Given the description of an element on the screen output the (x, y) to click on. 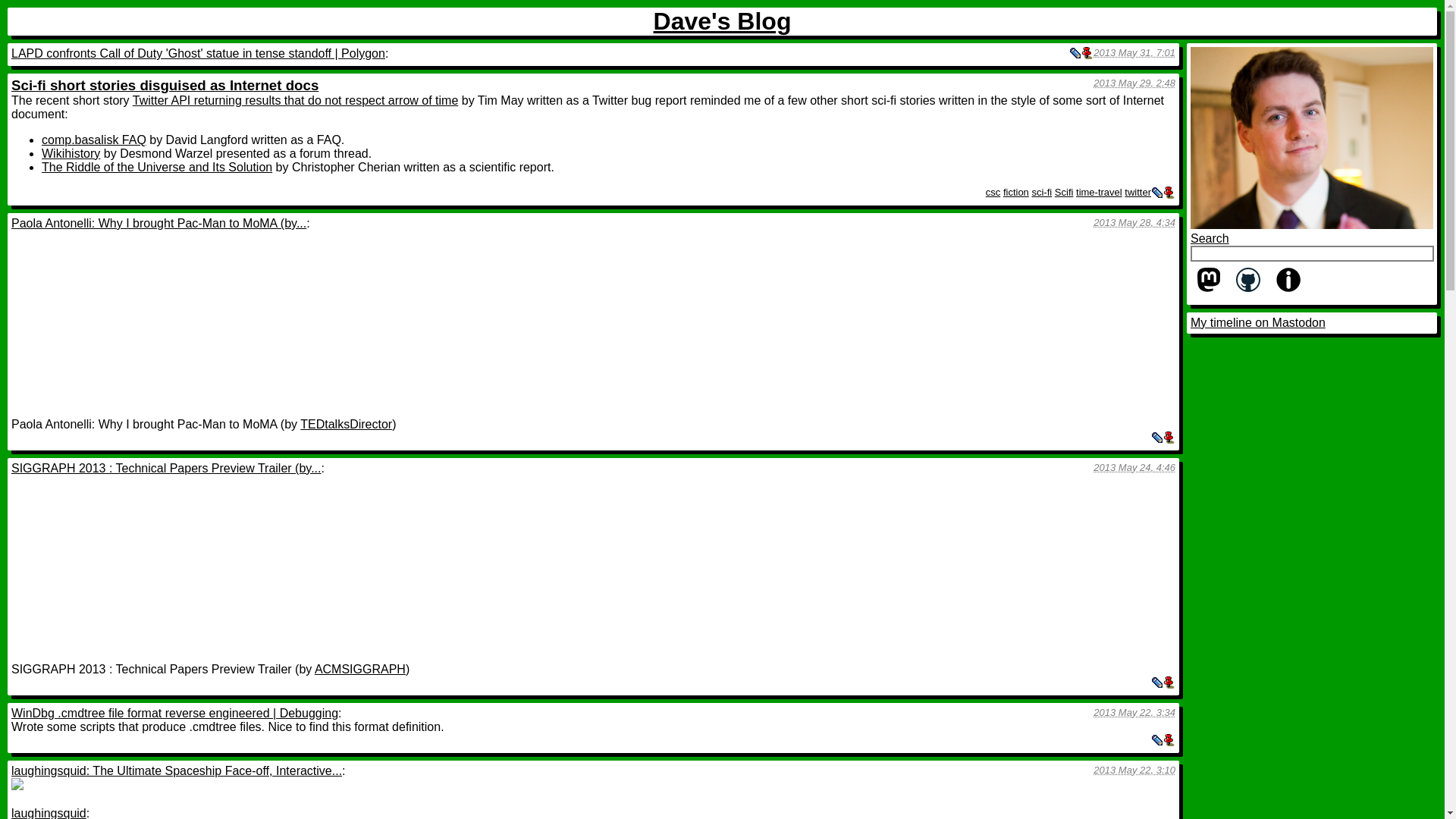
sci-fi (1040, 192)
comp.basalisk FAQ (94, 139)
csc (993, 192)
fiction (1016, 192)
TEDtalksDirector (345, 423)
2013-05-22 10:34:50 PST (1133, 712)
ACMSIGGRAPH (360, 668)
Scifi (1064, 192)
twitter (1137, 192)
Dave's Blog (722, 21)
2013-05-29 21:48:00 PST (1133, 82)
2013-05-31 14:01:27 PST (1133, 52)
Sci-fi short stories disguised as Internet docs (164, 84)
Wikihistory (71, 153)
